Given the description of an element on the screen output the (x, y) to click on. 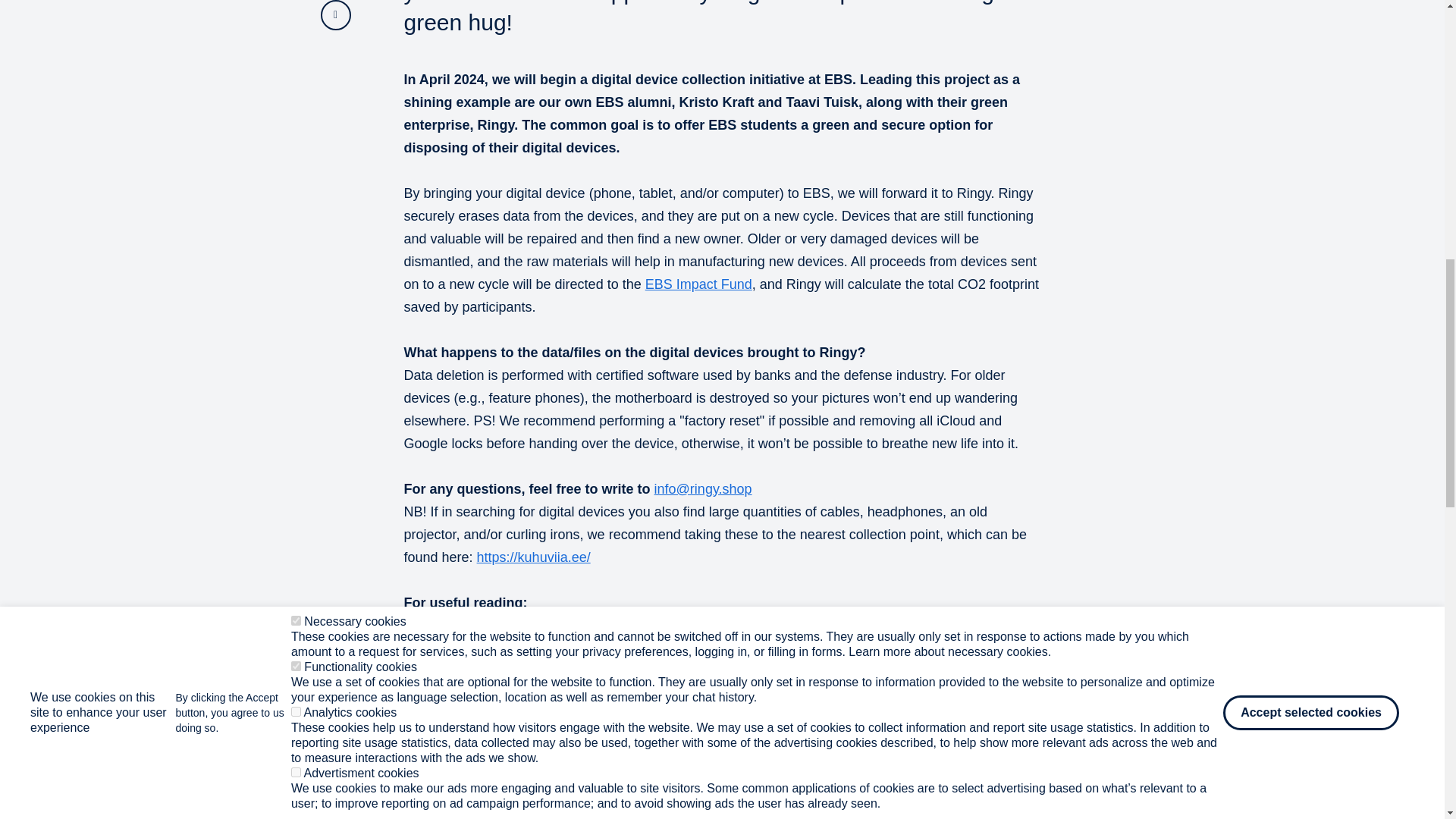
Email (335, 15)
